Given the description of an element on the screen output the (x, y) to click on. 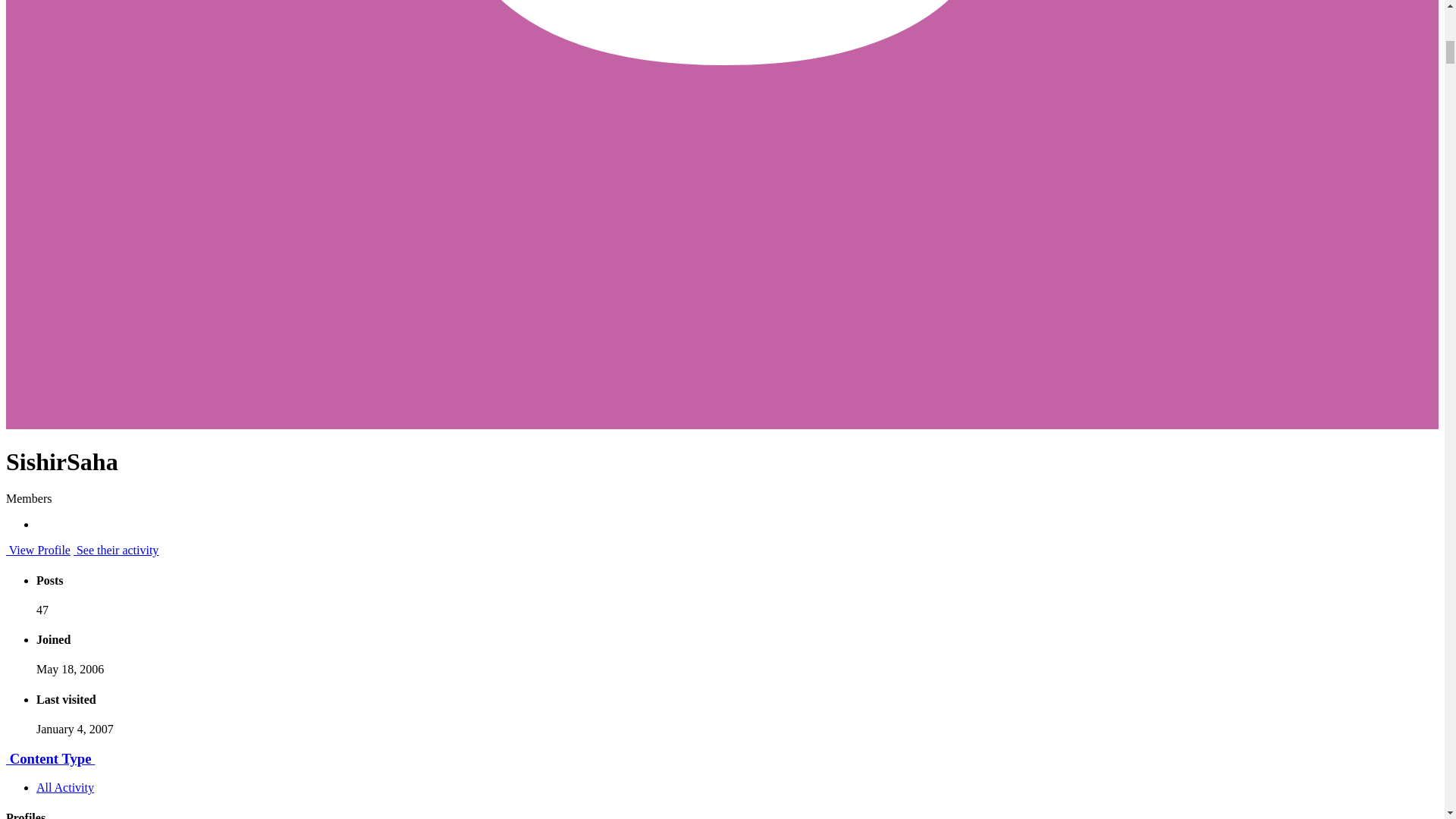
SishirSaha's Profile (37, 549)
All Activity (65, 787)
 Content Type  (49, 758)
 View Profile (37, 549)
 See their activity (116, 549)
SishirSaha's Content (116, 549)
